Given the description of an element on the screen output the (x, y) to click on. 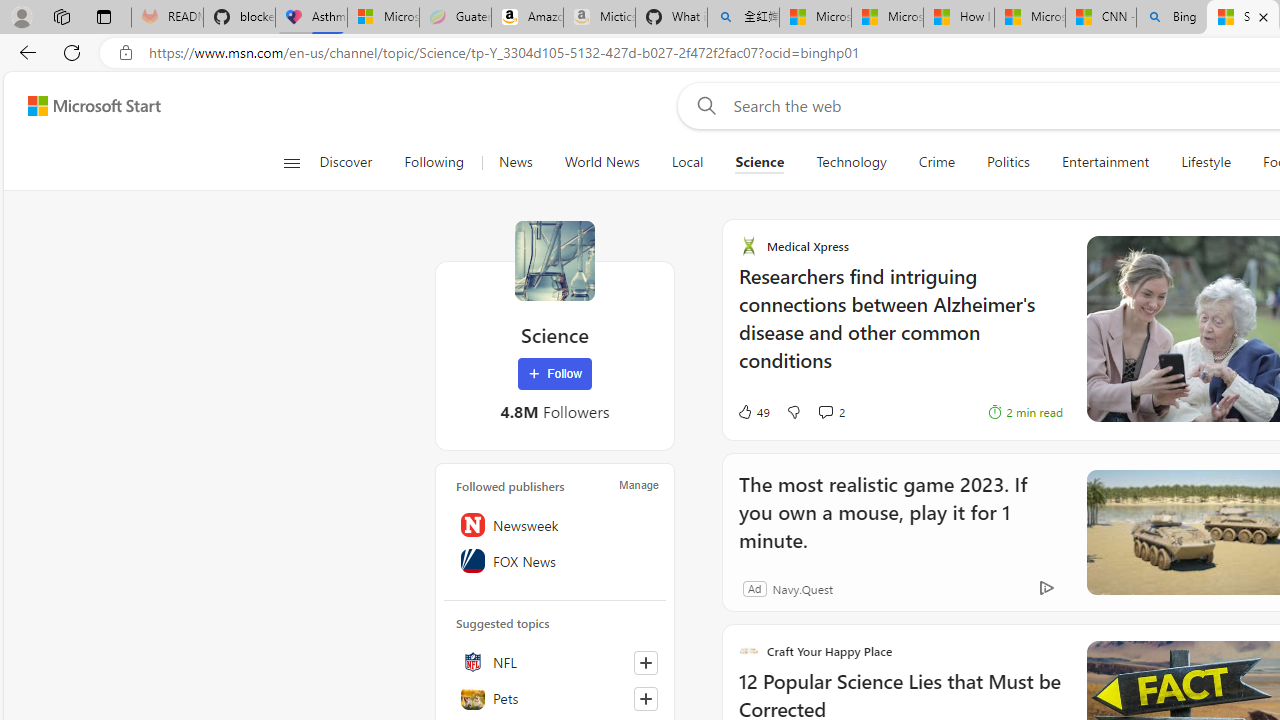
Entertainment (1105, 162)
Science (554, 260)
Workspaces (61, 16)
Local (687, 162)
Skip to footer (82, 105)
Local (687, 162)
Close tab (1263, 16)
Politics (1008, 162)
News (514, 162)
World News (601, 162)
Follow this topic (645, 698)
Personal Profile (21, 16)
Bing (1171, 17)
